Given the description of an element on the screen output the (x, y) to click on. 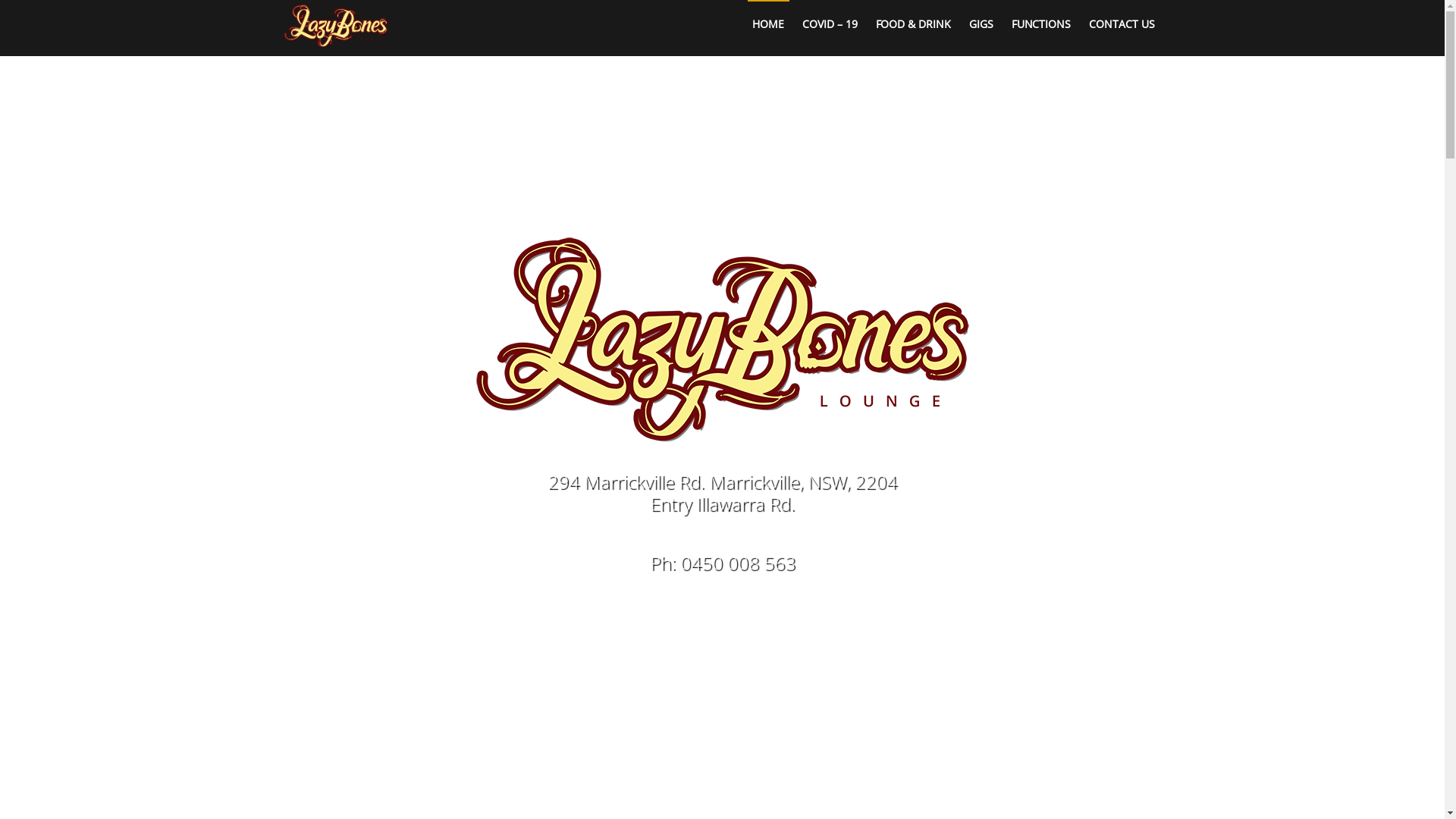
Lazy Bones Lounge Element type: hover (335, 25)
Lazy Bones Lounge Element type: hover (335, 37)
GIGS Element type: text (980, 23)
FUNCTIONS Element type: text (1040, 23)
CONTACT US Element type: text (1121, 23)
FOOD & DRINK Element type: text (912, 23)
HOME Element type: text (768, 23)
gig guide Element type: text (906, 679)
